Given the description of an element on the screen output the (x, y) to click on. 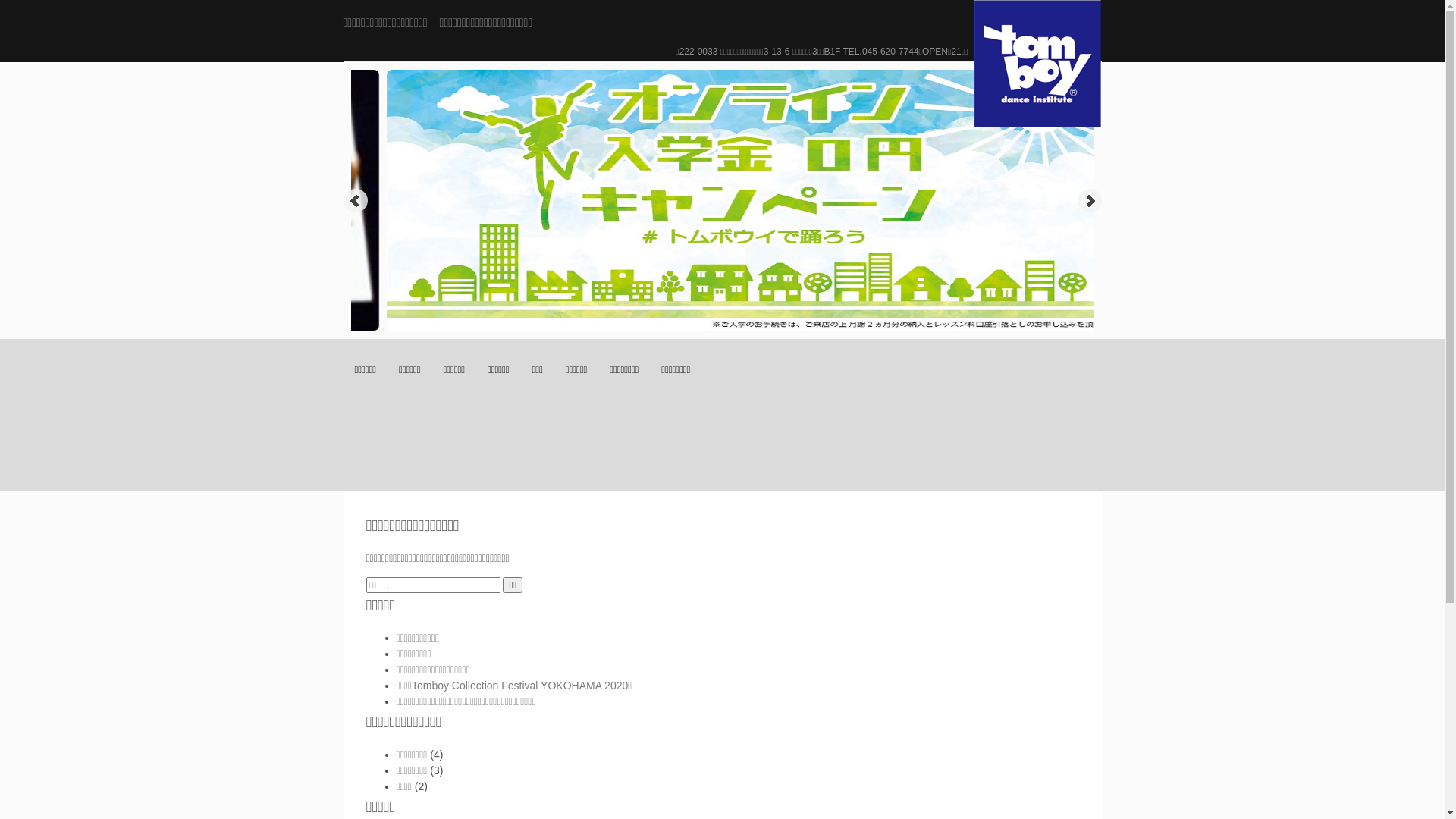
Next Element type: text (1088, 200)
Prev Element type: text (354, 200)
